Given the description of an element on the screen output the (x, y) to click on. 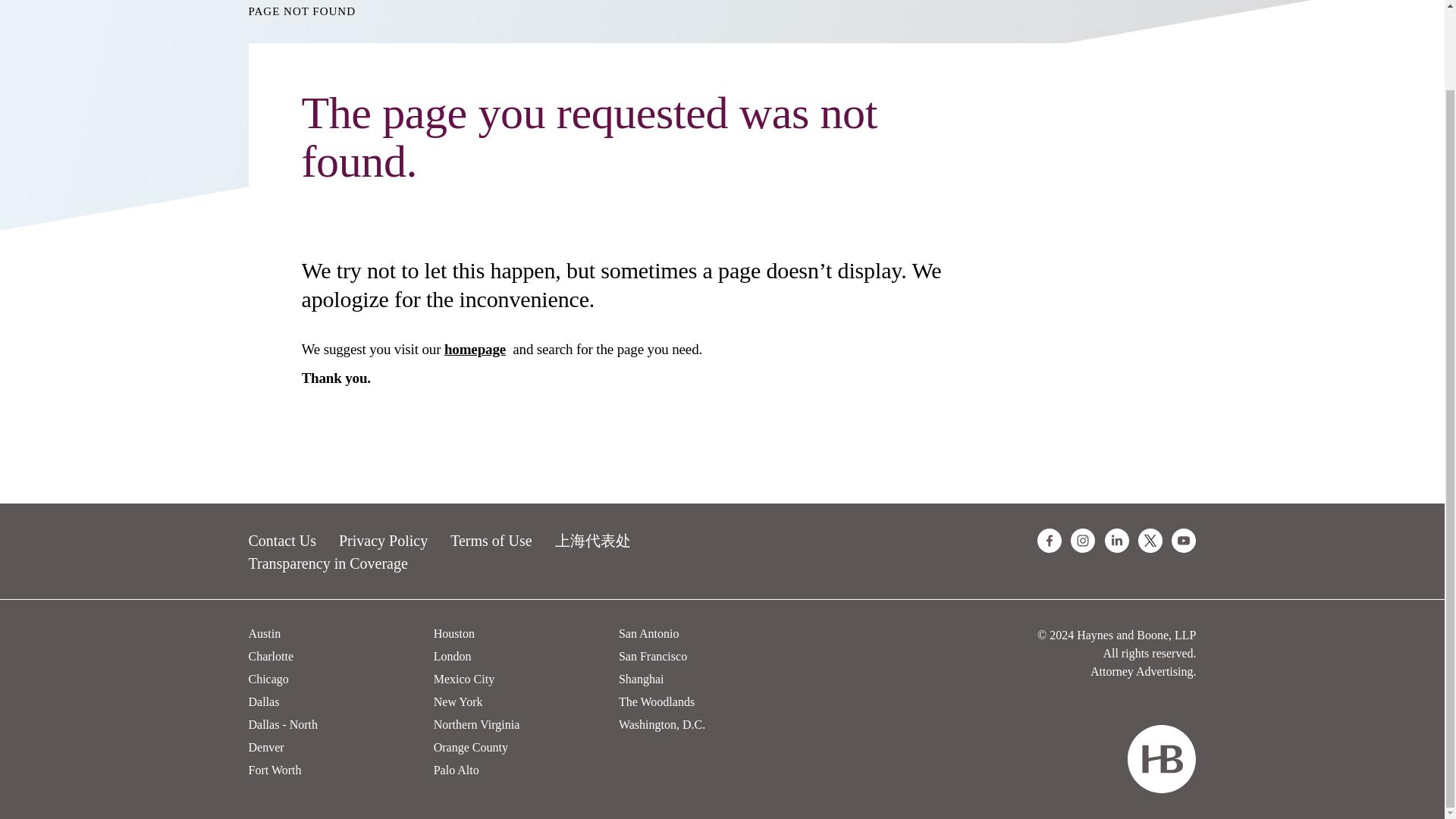
Combined Shape (1160, 758)
Northern Virginia (476, 724)
San Antonio (648, 633)
Palo Alto (456, 769)
Dallas (263, 701)
Washington, D.C. (661, 724)
New York (458, 701)
Chicago (268, 678)
Terms of Use (490, 540)
homepage (474, 349)
Mexico City (464, 678)
Privacy Policy (383, 540)
Denver (265, 747)
Transparency in Coverage (327, 563)
Dallas - North (283, 724)
